Given the description of an element on the screen output the (x, y) to click on. 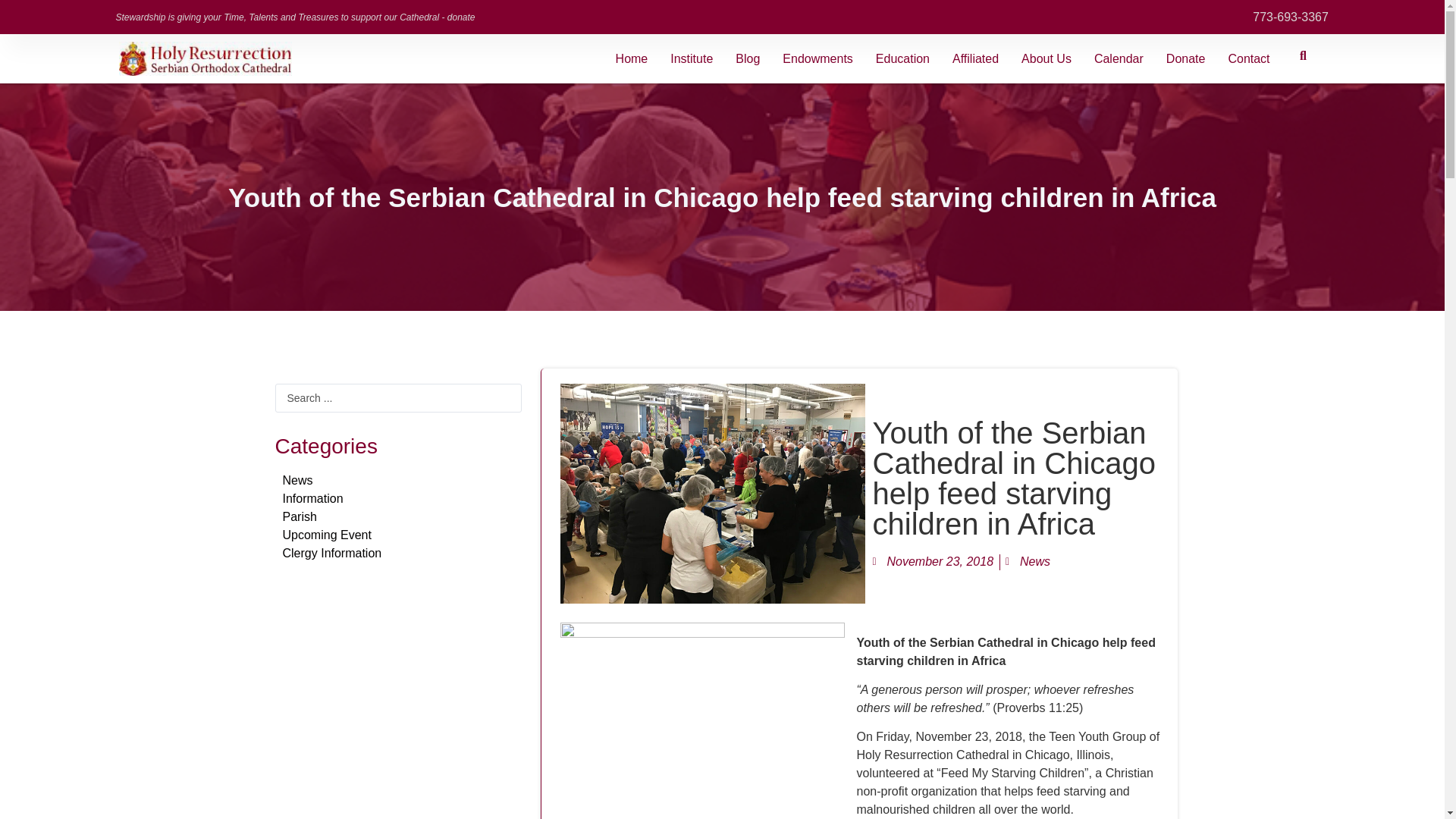
Calendar (1118, 57)
Home (631, 57)
News (297, 480)
Affiliated (975, 57)
773-693-3367 (1267, 16)
Clergy Information (331, 553)
Contact (1248, 57)
Donate (1185, 57)
Information (312, 498)
News (1034, 561)
Blog (747, 57)
About Us (1046, 57)
Institute (691, 57)
Upcoming Event (326, 534)
